Given the description of an element on the screen output the (x, y) to click on. 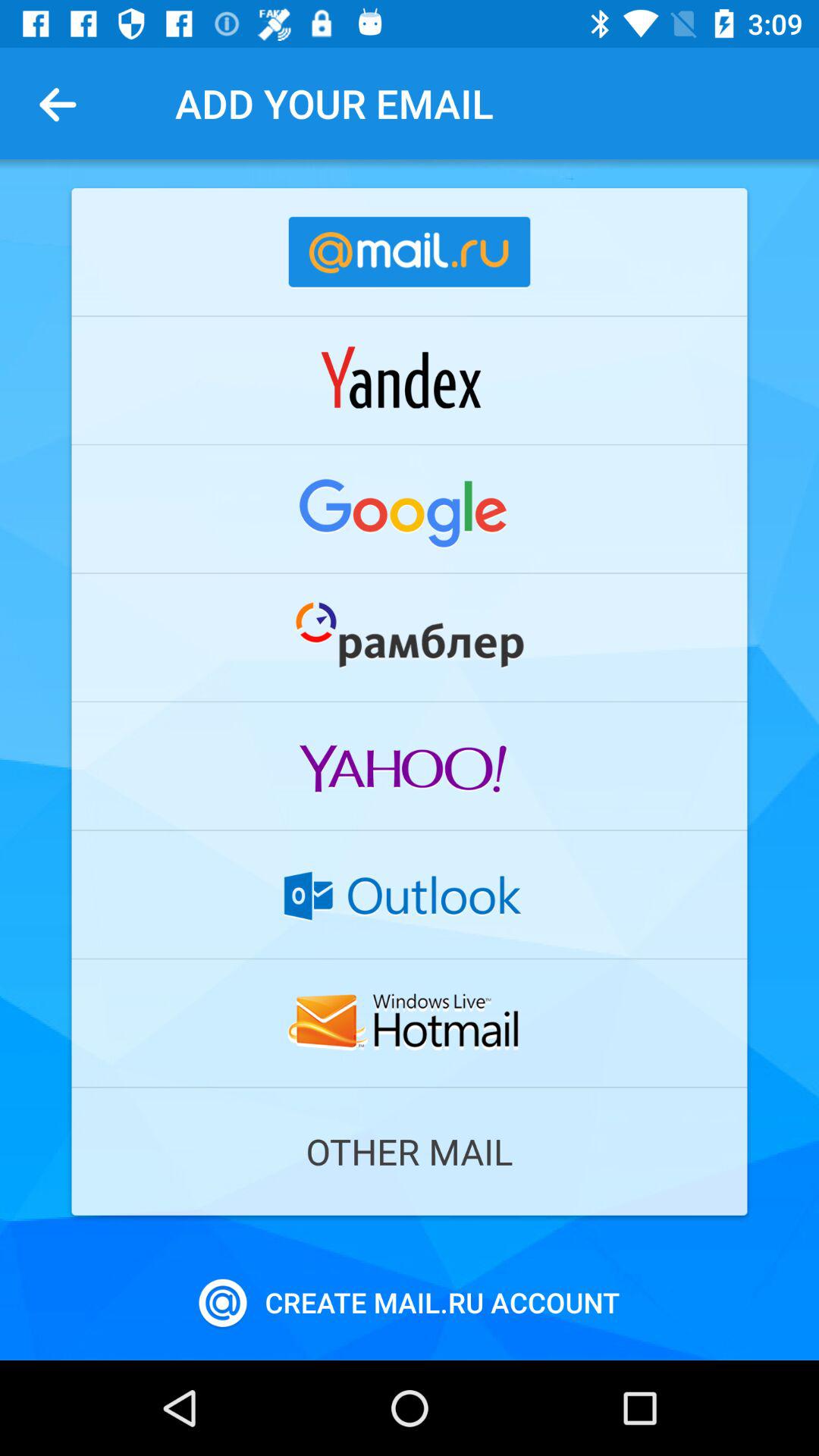
select mail.ru as e-mail provider (409, 251)
